Given the description of an element on the screen output the (x, y) to click on. 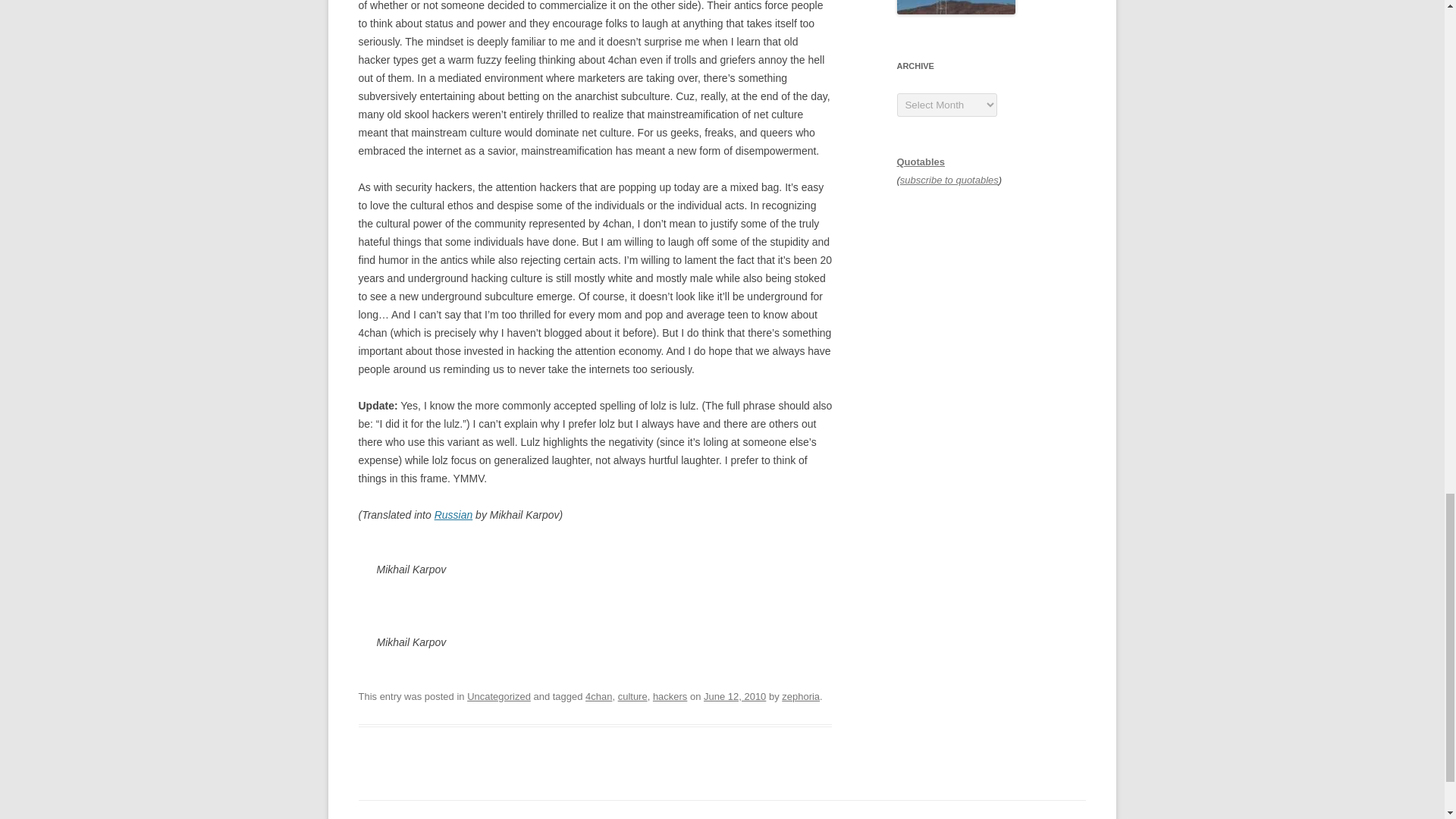
zephoria (800, 696)
Quotables (920, 161)
June 12, 2010 (734, 696)
Uncategorized (499, 696)
Russian (453, 514)
hackers (669, 696)
culture (632, 696)
View all posts by zephoria (800, 696)
4chan (598, 696)
subscribe to quotables (948, 179)
